Given the description of an element on the screen output the (x, y) to click on. 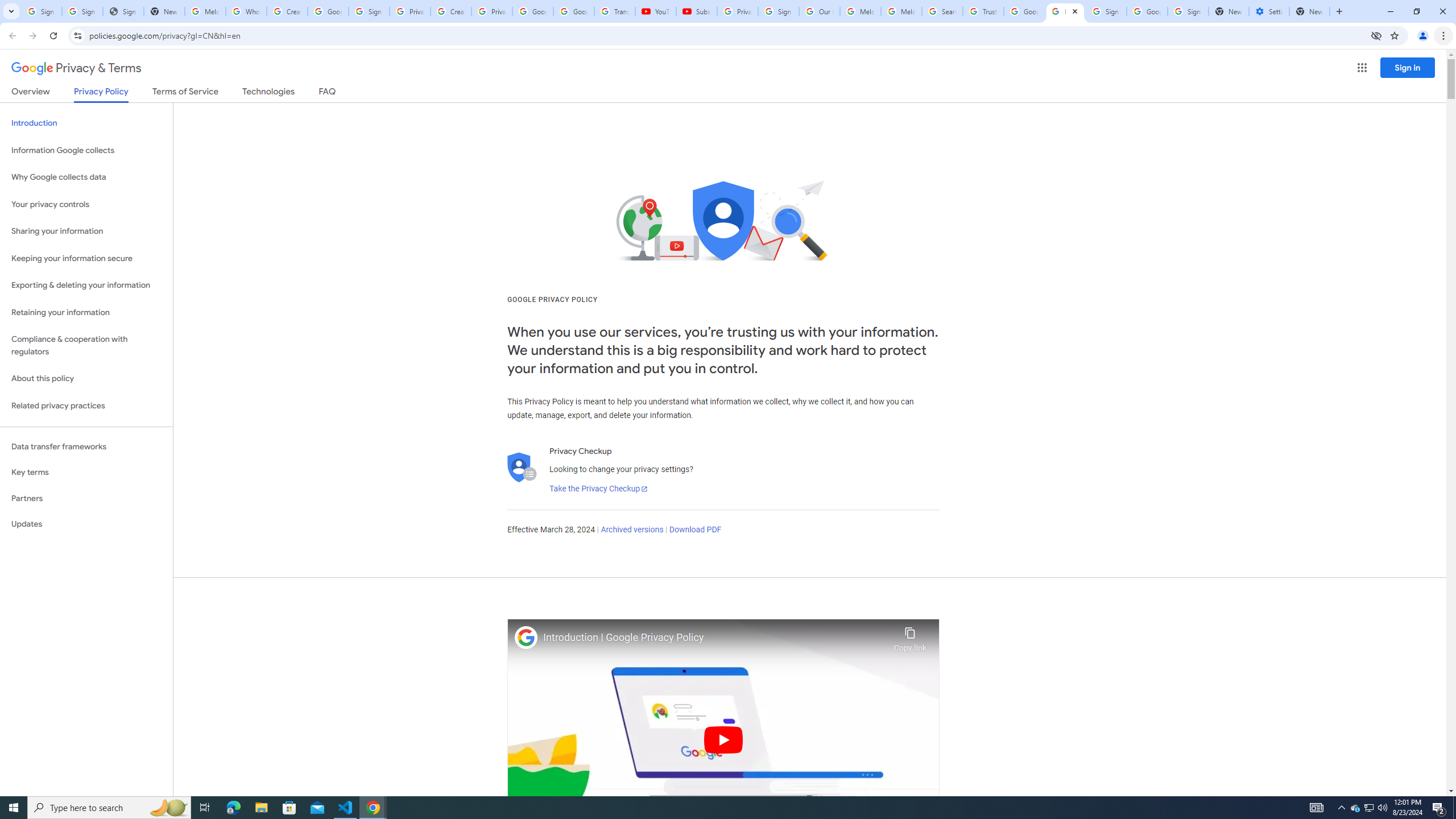
Create your Google Account (287, 11)
Google Cybersecurity Innovations - Google Safety Center (1146, 11)
Related privacy practices (86, 405)
